Given the description of an element on the screen output the (x, y) to click on. 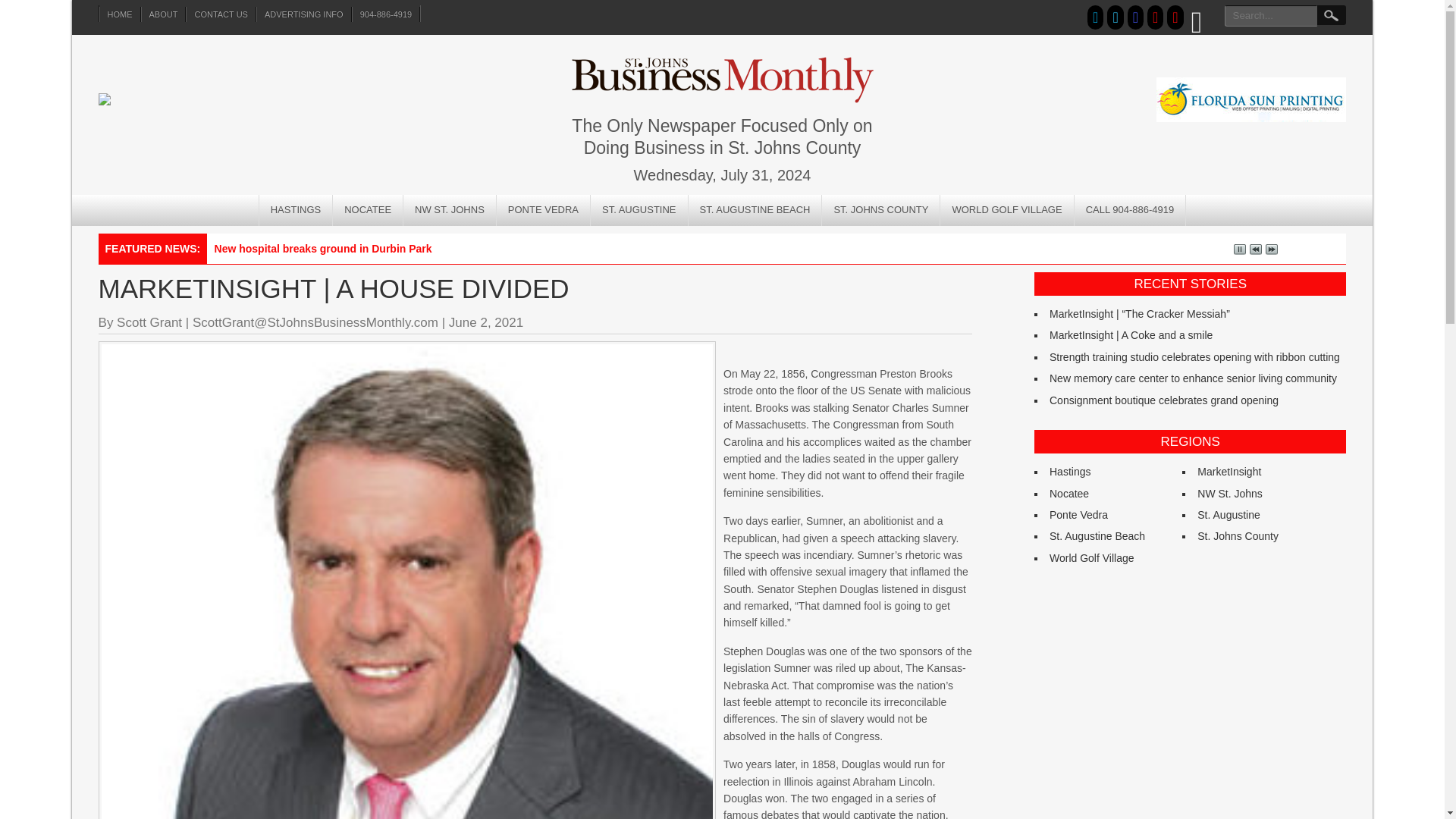
PONTE VEDRA (543, 210)
HOME (120, 14)
June 2, 2021 (485, 322)
NOCATEE (368, 210)
Search... (1330, 14)
ADVERTISING INFO (304, 14)
HASTINGS (296, 210)
CALL 904-886-4919 (1130, 210)
ST. AUGUSTINE (639, 210)
New hospital breaks ground in Durbin Park (323, 248)
CONTACT US (221, 14)
WORLD GOLF VILLAGE (1007, 210)
NW ST. JOHNS (449, 210)
ABOUT (163, 14)
904-886-4919 (386, 14)
